Given the description of an element on the screen output the (x, y) to click on. 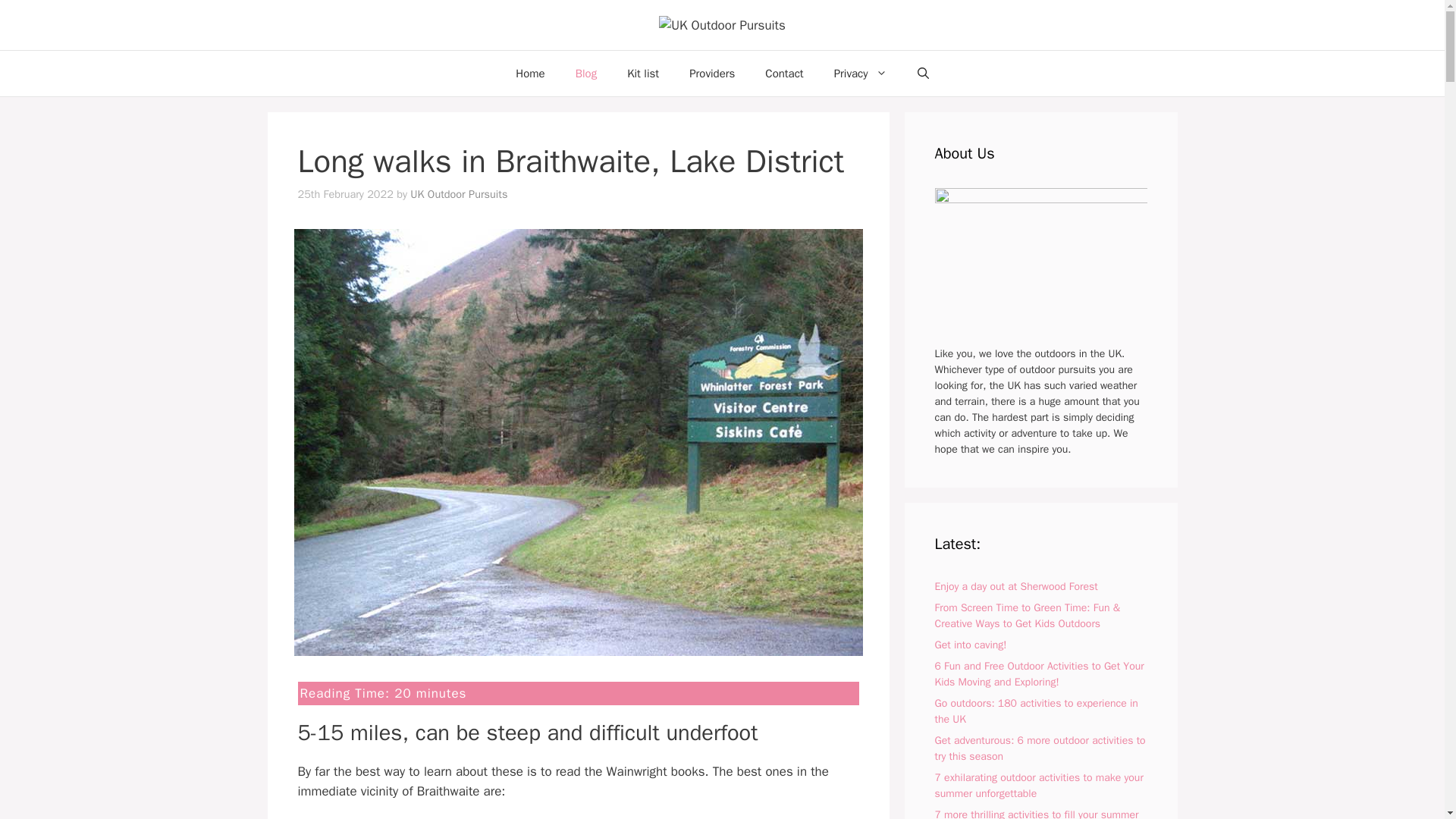
7 more thrilling activities to fill your summer (1036, 813)
Contact (783, 73)
Go outdoors: 180 activities to experience in the UK (1035, 710)
Blog (585, 73)
Providers (711, 73)
Home (529, 73)
Kit list (642, 73)
Get into caving! (970, 644)
